Given the description of an element on the screen output the (x, y) to click on. 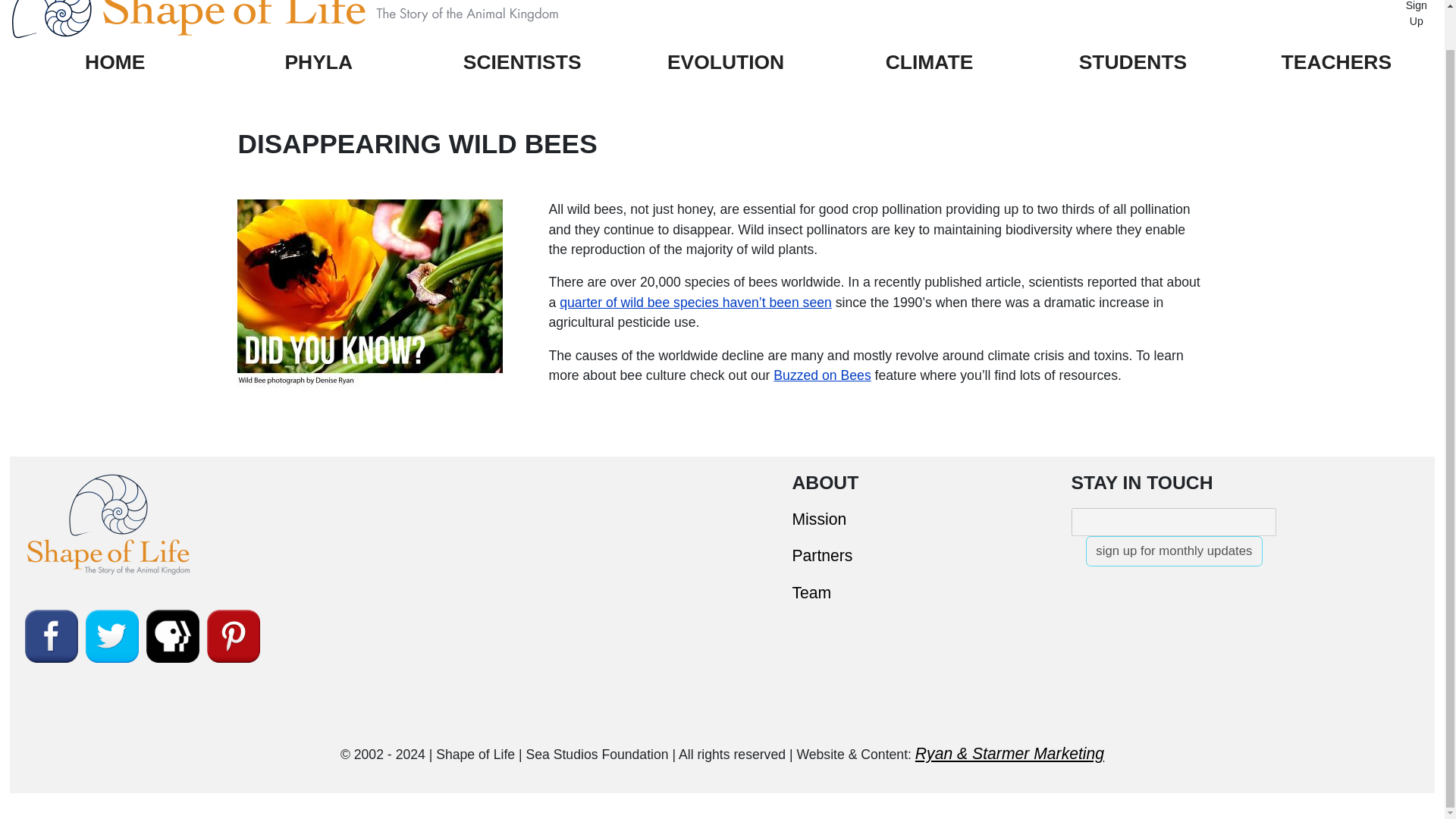
Home (319, 22)
sign up for monthly updates (1174, 551)
